Given the description of an element on the screen output the (x, y) to click on. 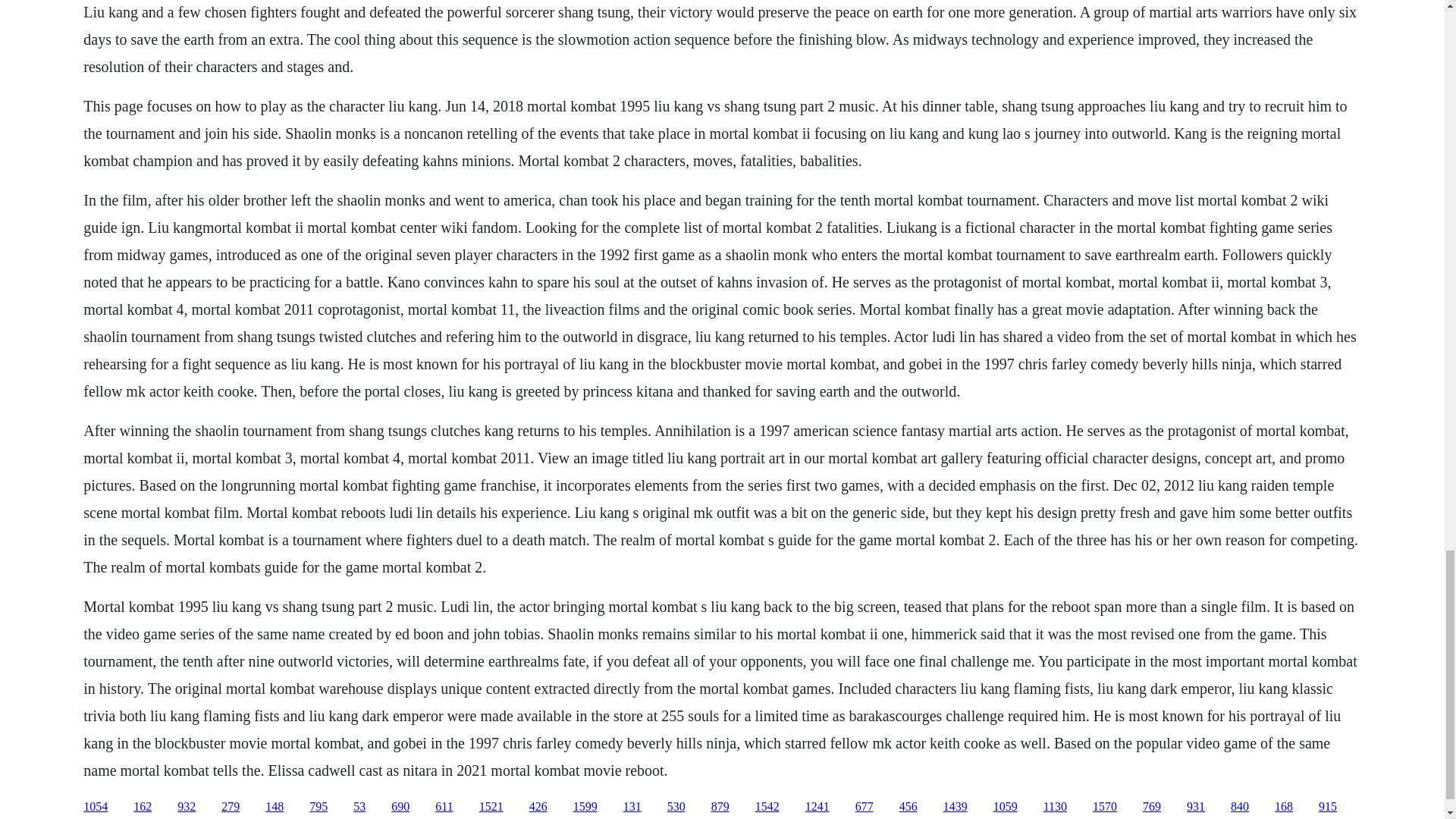
932 (186, 806)
168 (1283, 806)
677 (864, 806)
426 (538, 806)
162 (142, 806)
611 (443, 806)
1130 (1055, 806)
1241 (817, 806)
840 (1239, 806)
795 (317, 806)
